Given the description of an element on the screen output the (x, y) to click on. 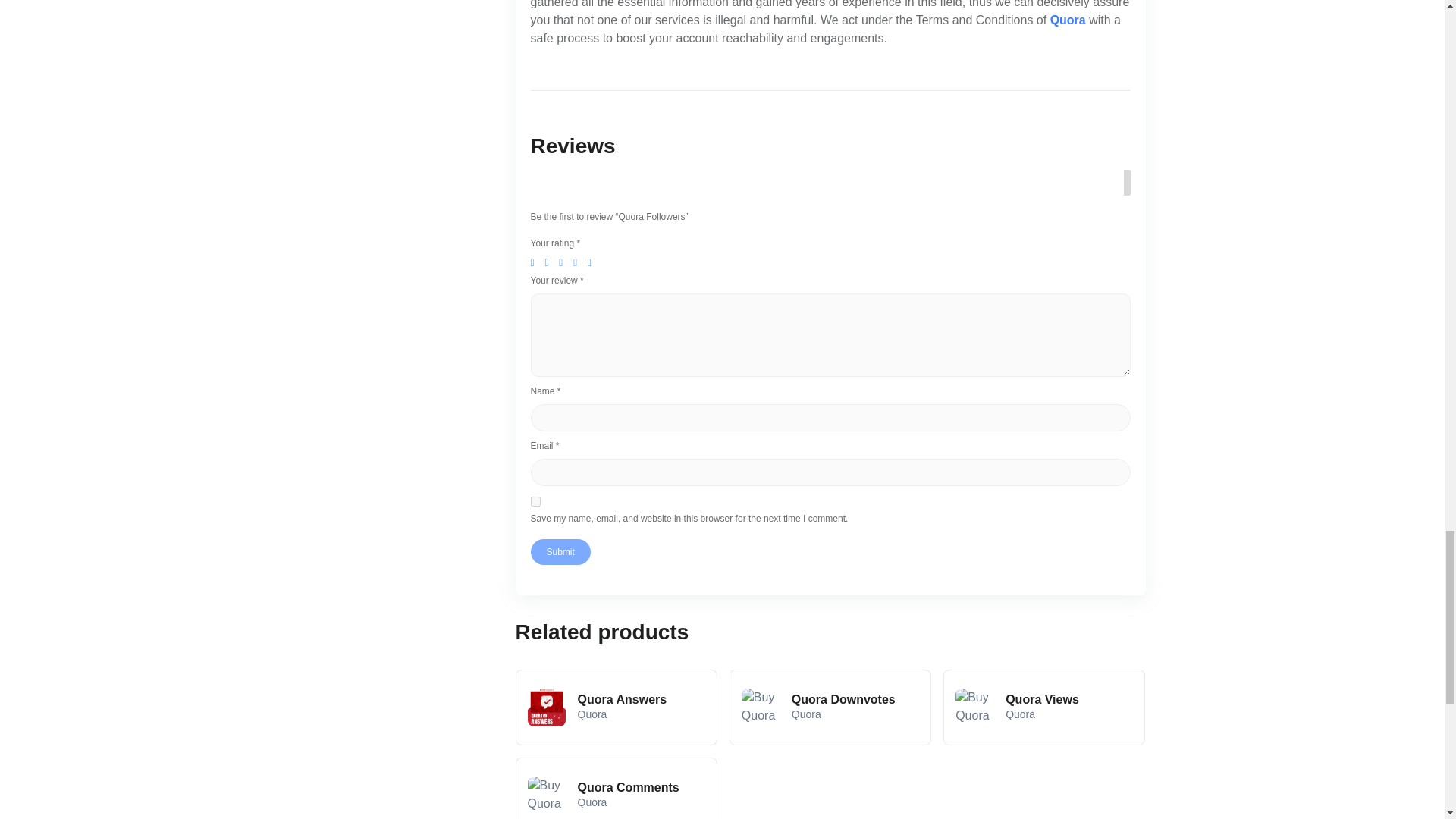
Submit (561, 551)
yes (535, 501)
